Given the description of an element on the screen output the (x, y) to click on. 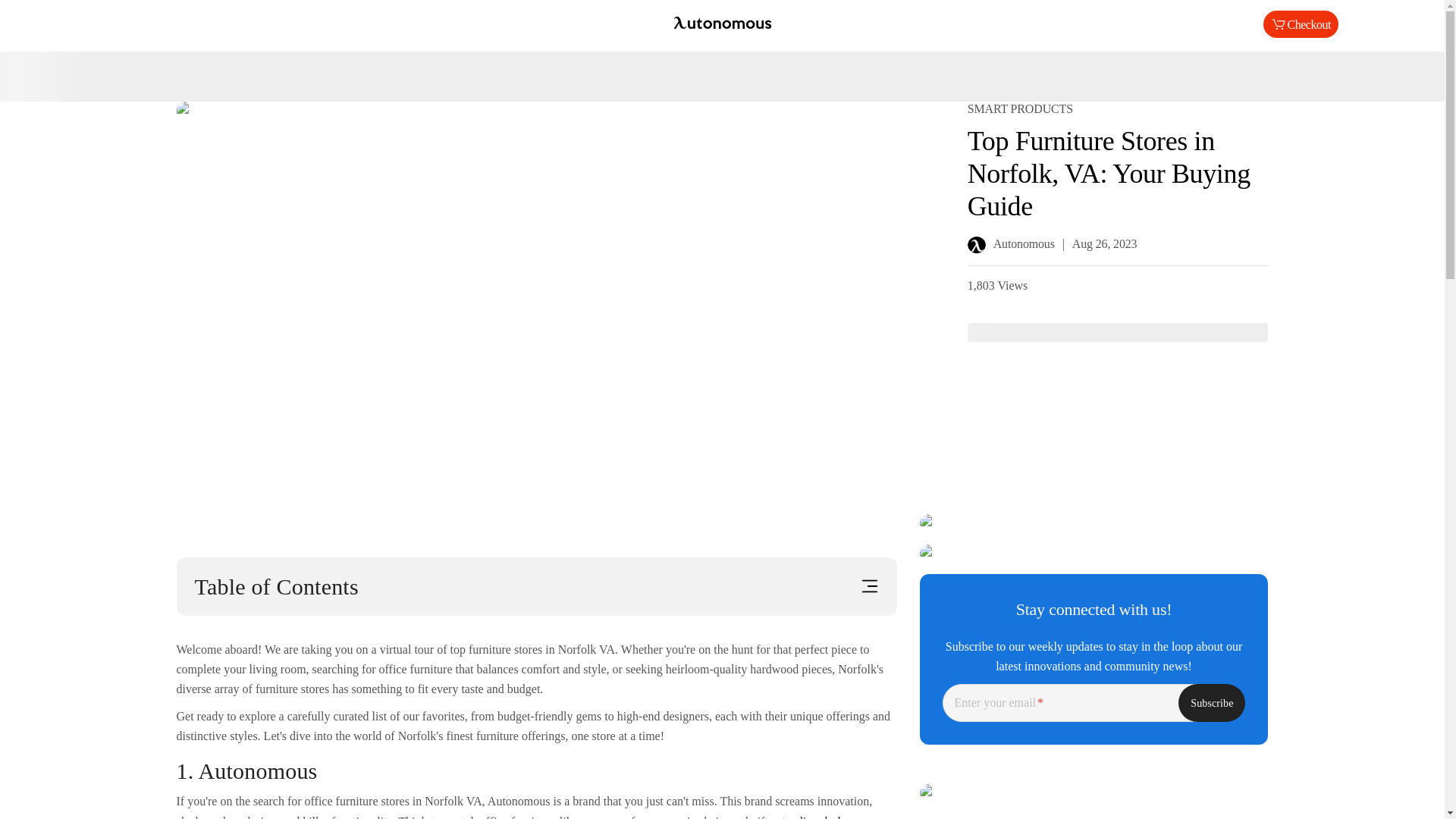
Autonomous (1011, 244)
Autonomous (721, 23)
standing desks (812, 816)
Subscribe (1210, 702)
Click go to homepage (721, 23)
